Given the description of an element on the screen output the (x, y) to click on. 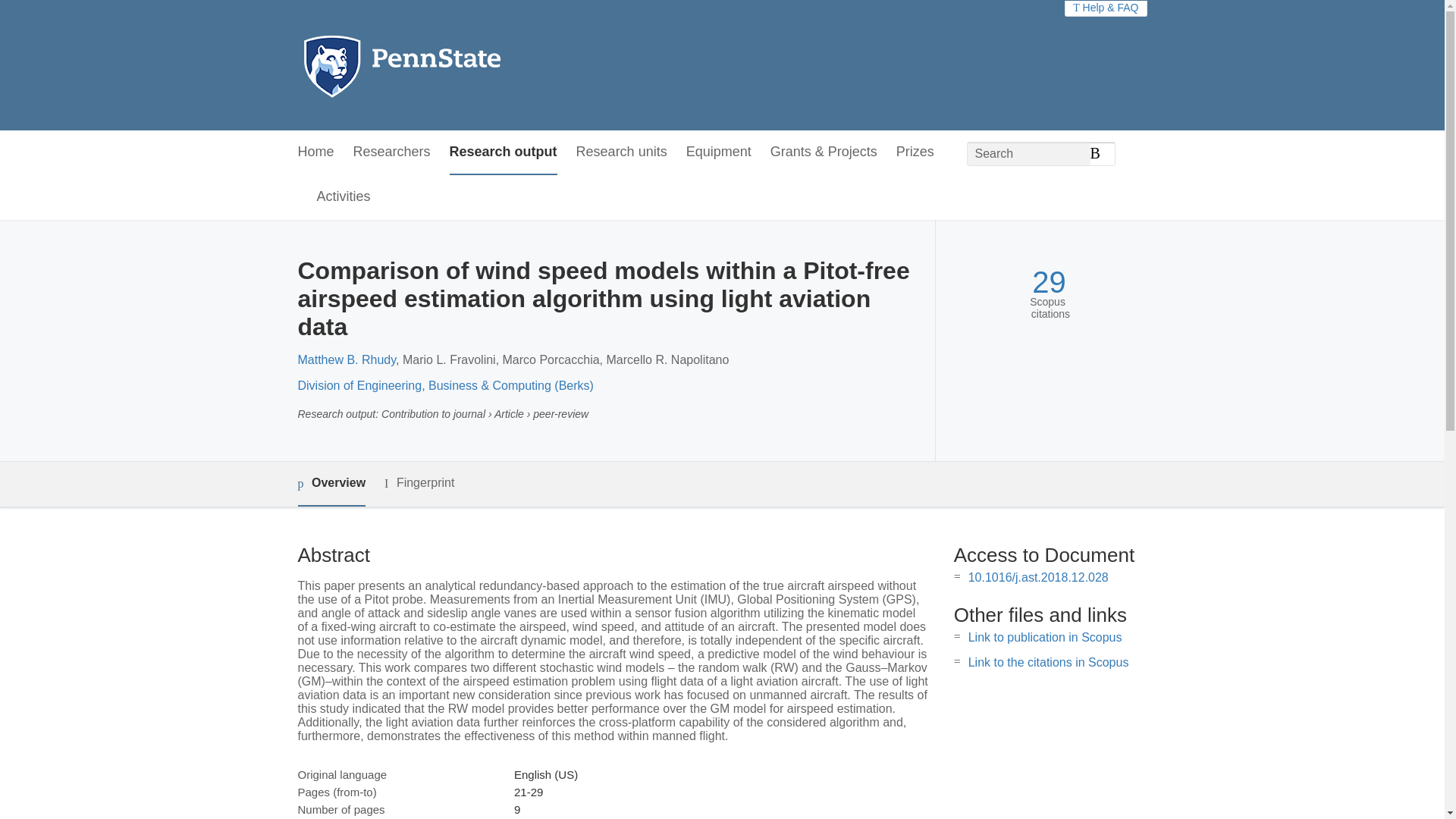
Research output (503, 152)
29 (1048, 282)
Overview (331, 483)
Research units (621, 152)
Fingerprint (419, 483)
Matthew B. Rhudy (346, 359)
Researchers (391, 152)
Link to publication in Scopus (1045, 636)
Activities (344, 197)
Penn State Home (467, 65)
Equipment (718, 152)
Link to the citations in Scopus (1048, 662)
